Given the description of an element on the screen output the (x, y) to click on. 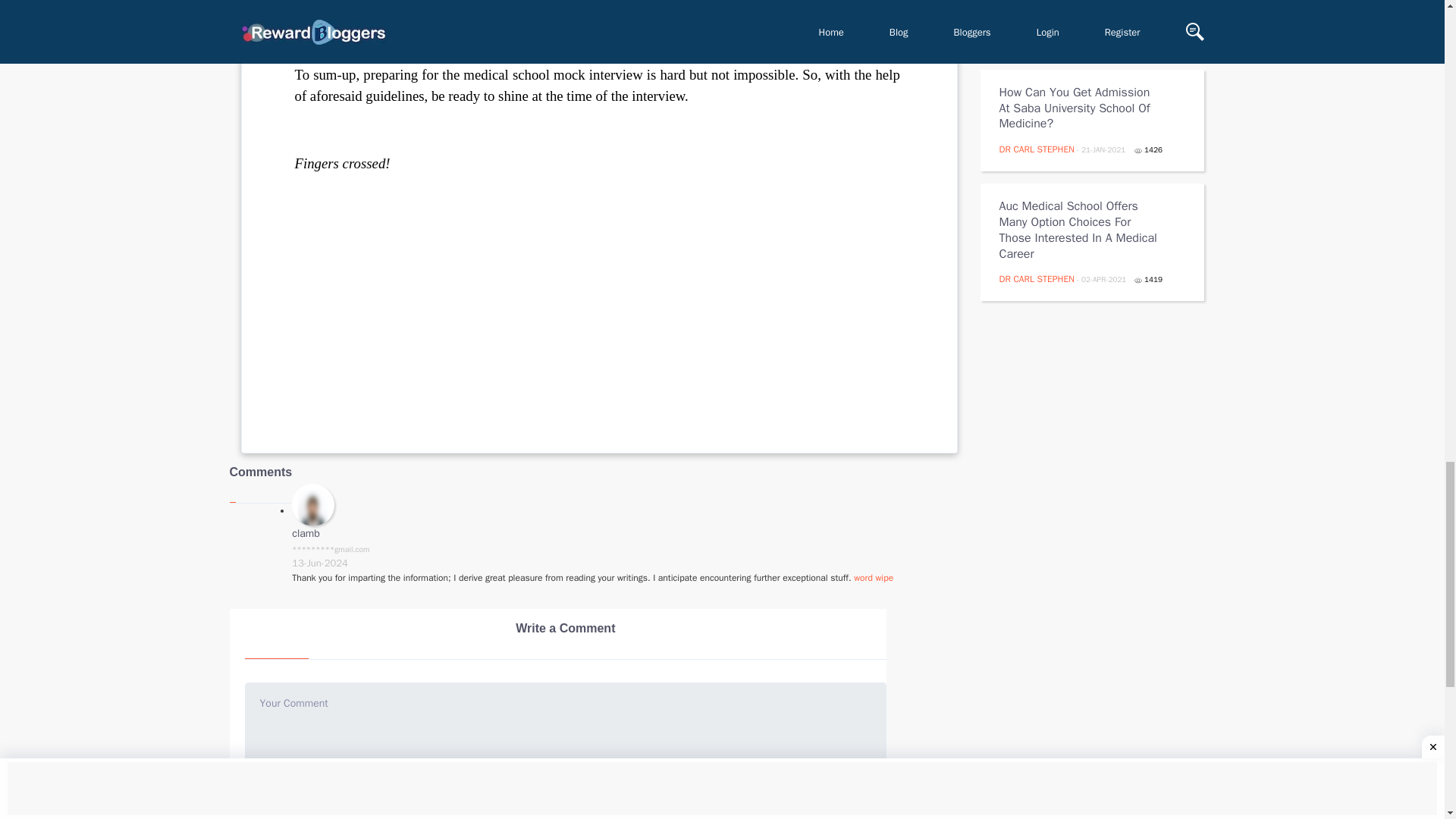
How To Choose The Right School? (1080, 9)
SUSHANT (1018, 35)
word wipe (873, 577)
clamb (306, 533)
DR CARL STEPHEN (1036, 278)
DR CARL STEPHEN (1036, 149)
